Given the description of an element on the screen output the (x, y) to click on. 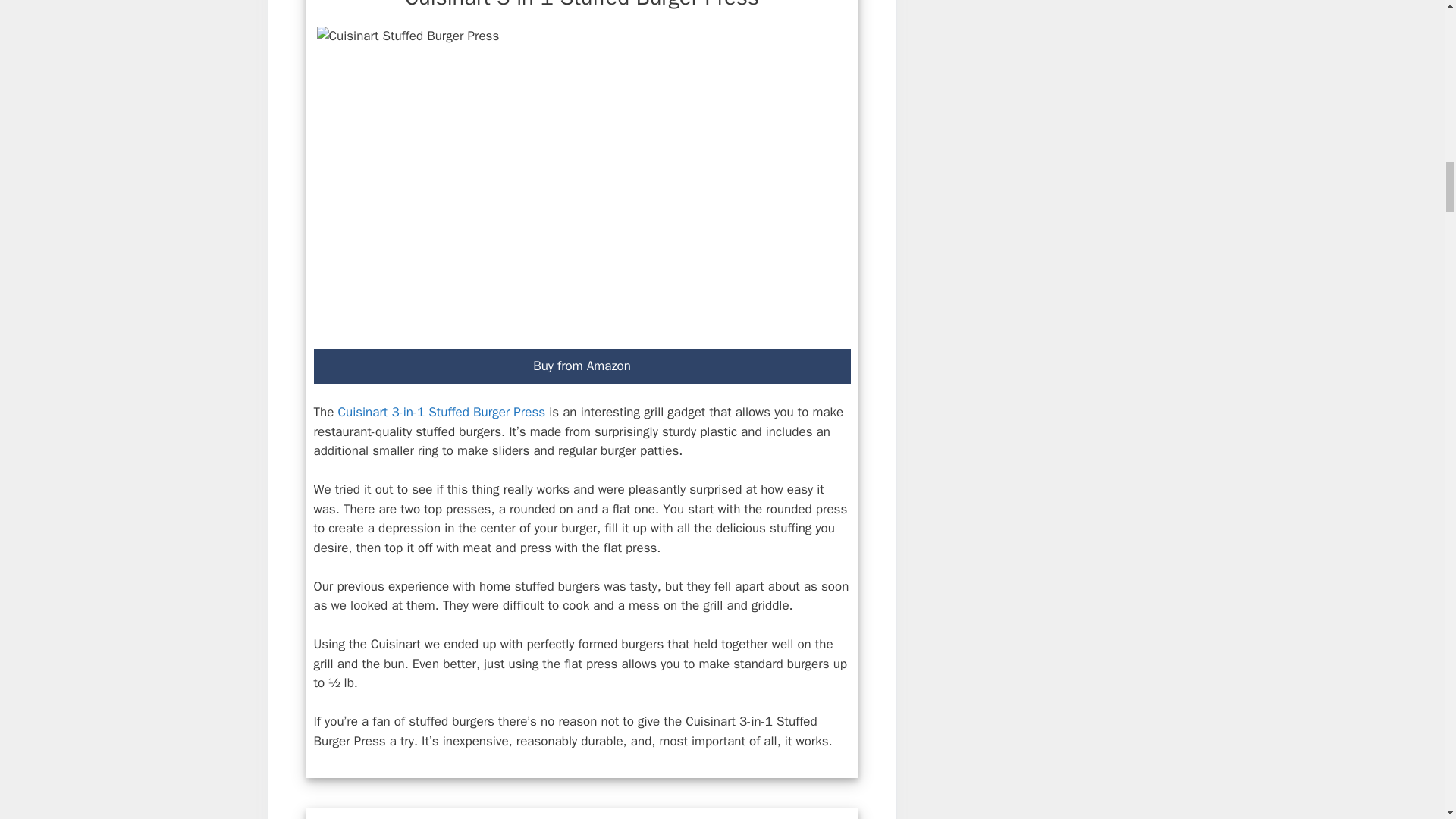
Buy from Amazon (582, 366)
Cuisinart 3-in-1 Stuffed Burger Press (440, 412)
